Given the description of an element on the screen output the (x, y) to click on. 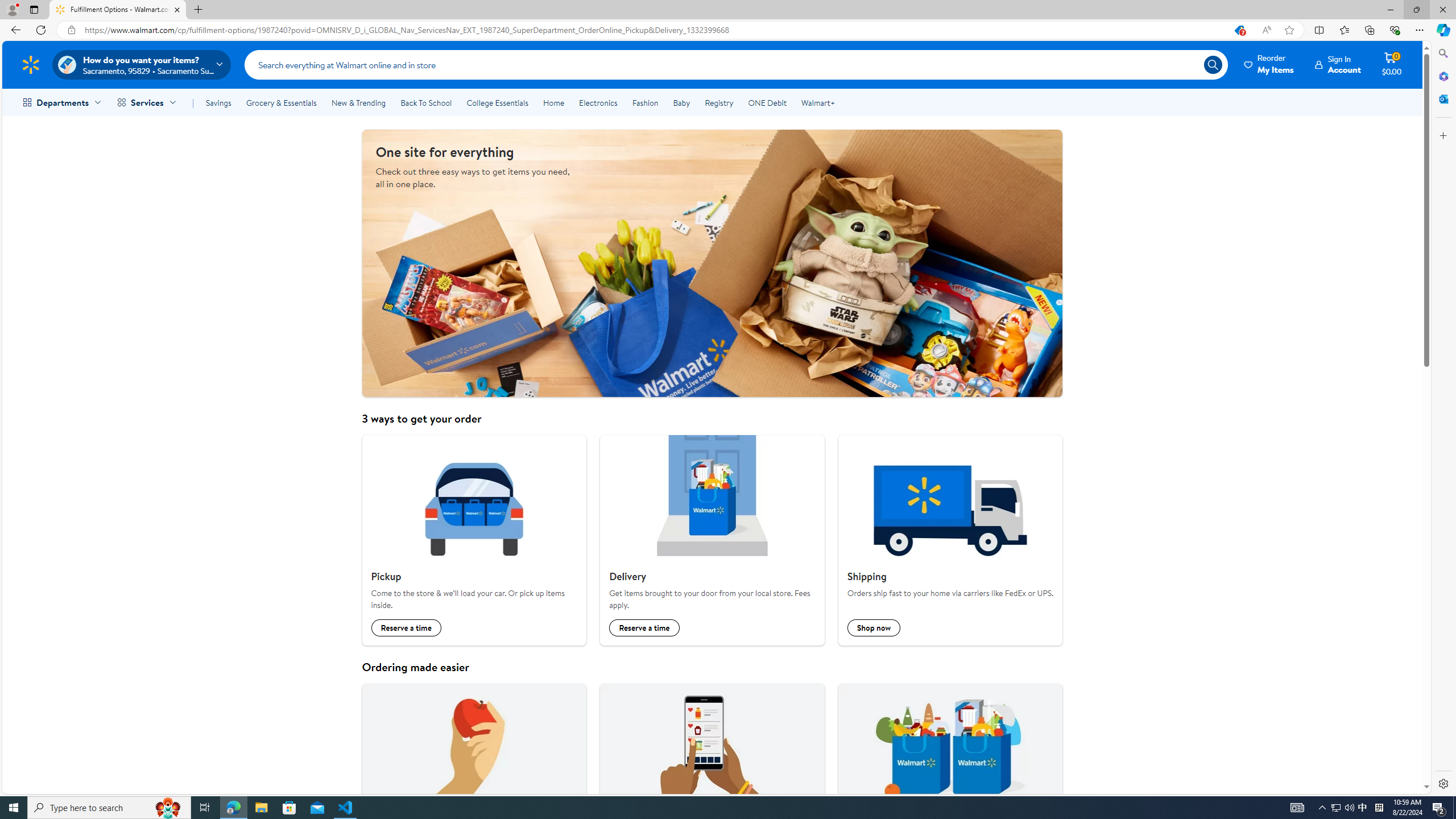
Baby (681, 102)
New & Trending (358, 102)
Sign InAccount (1338, 64)
Reorder My Items (1269, 64)
ONE Debit (767, 102)
